Given the description of an element on the screen output the (x, y) to click on. 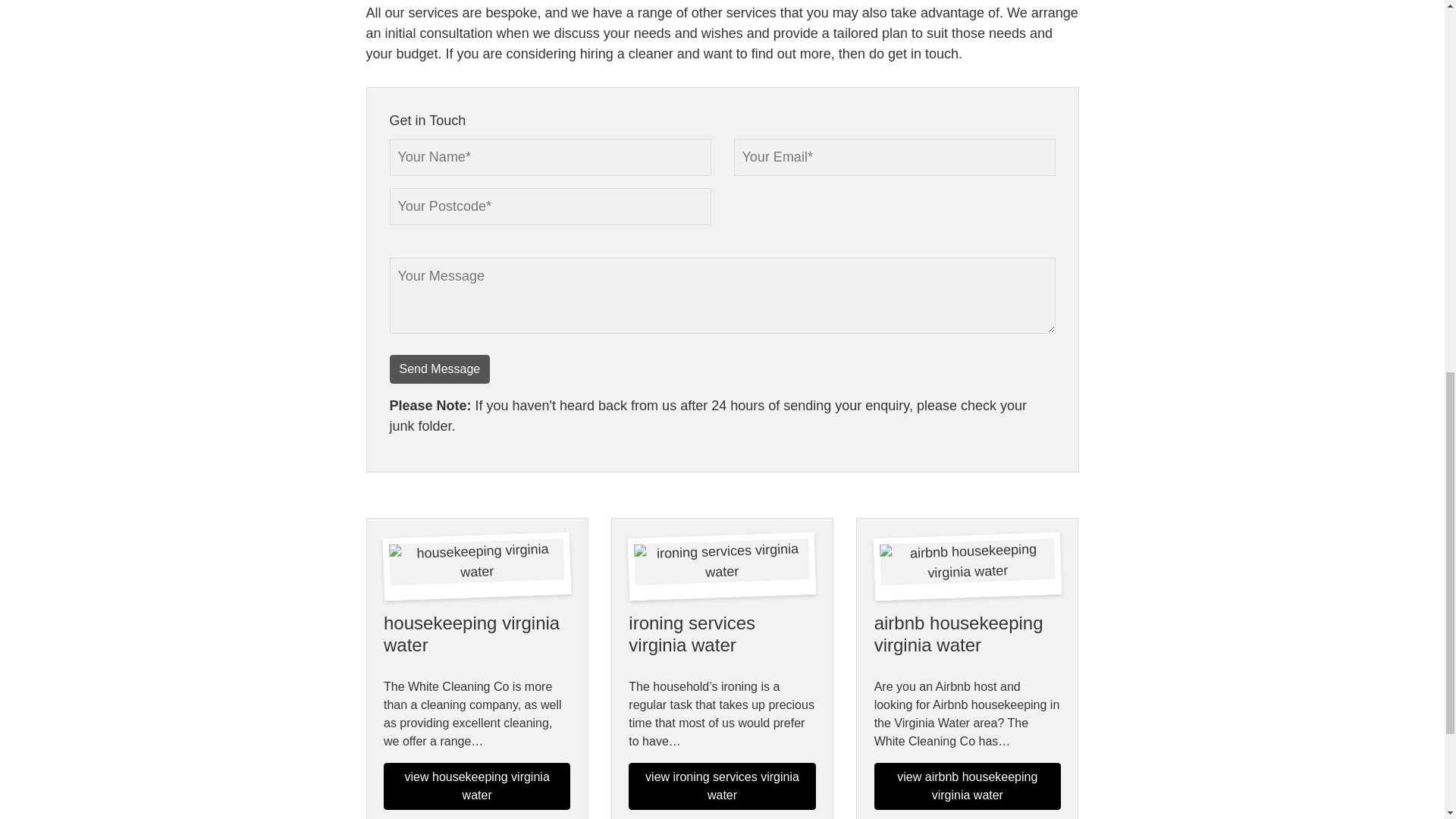
Send Message (440, 369)
view ironing services virginia water (721, 785)
view airbnb housekeeping virginia water (968, 785)
view housekeeping virginia water (477, 785)
Send Message (440, 369)
